Given the description of an element on the screen output the (x, y) to click on. 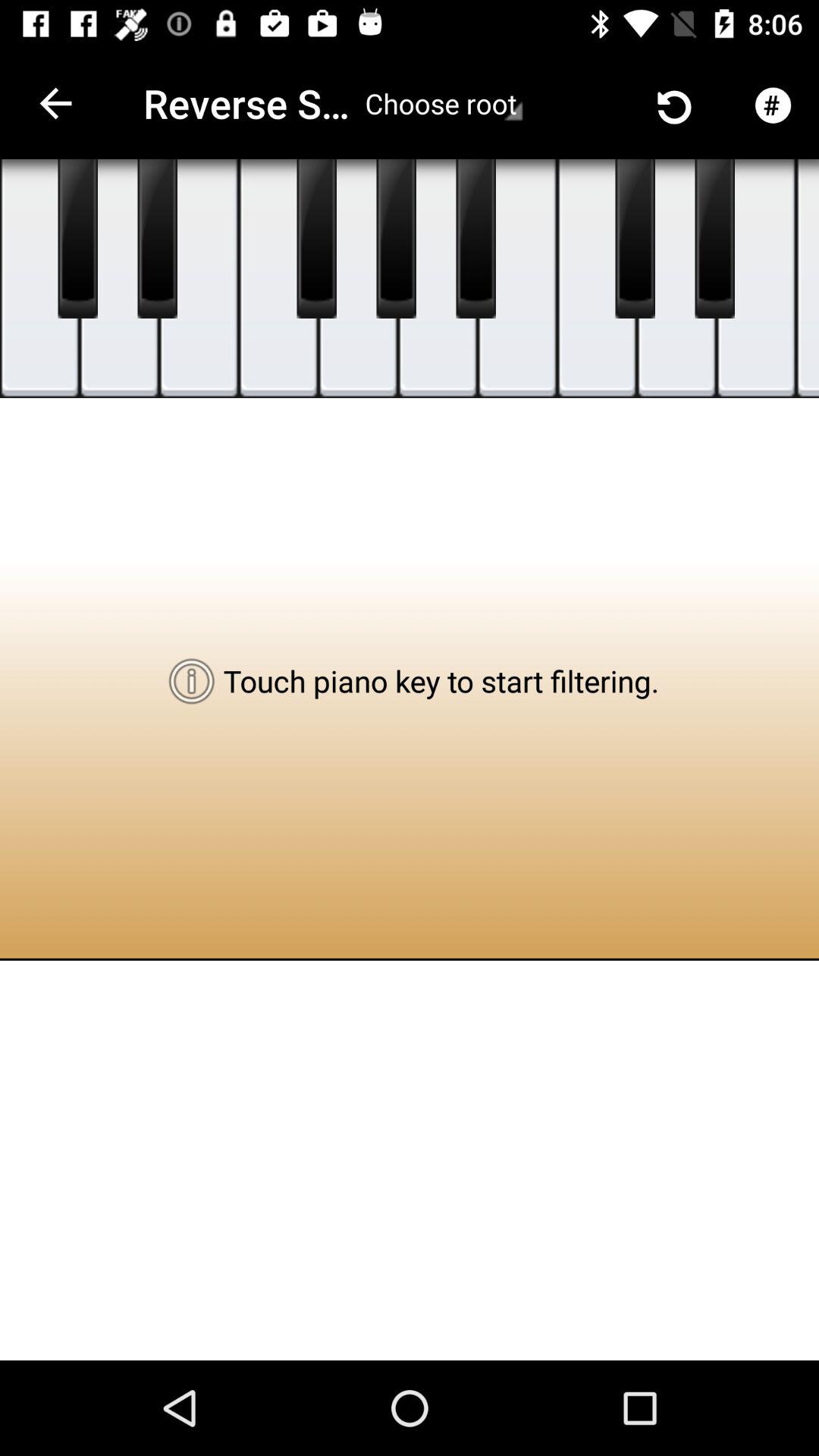
press key (39, 278)
